Given the description of an element on the screen output the (x, y) to click on. 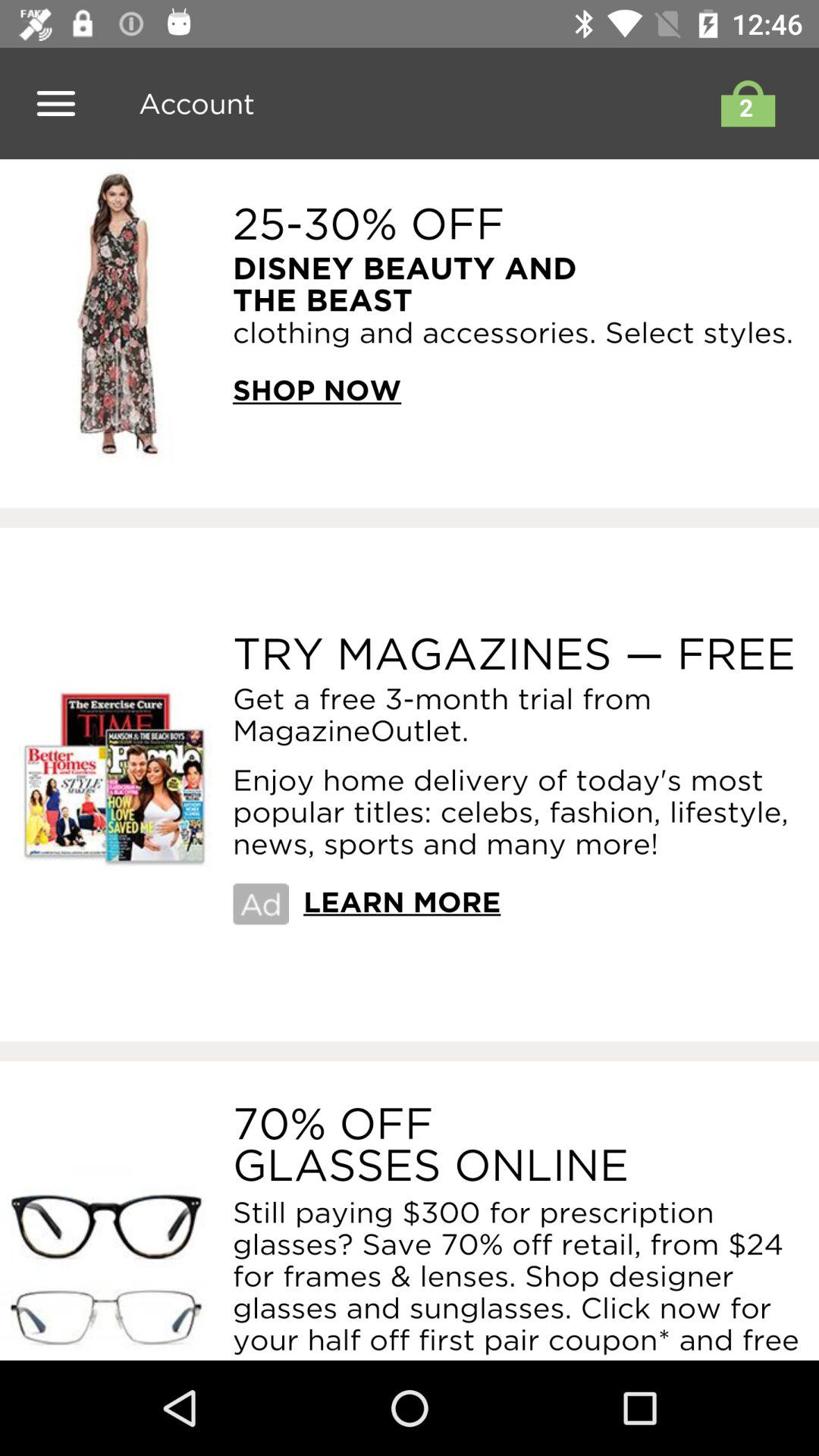
go to lock box (744, 103)
